Given the description of an element on the screen output the (x, y) to click on. 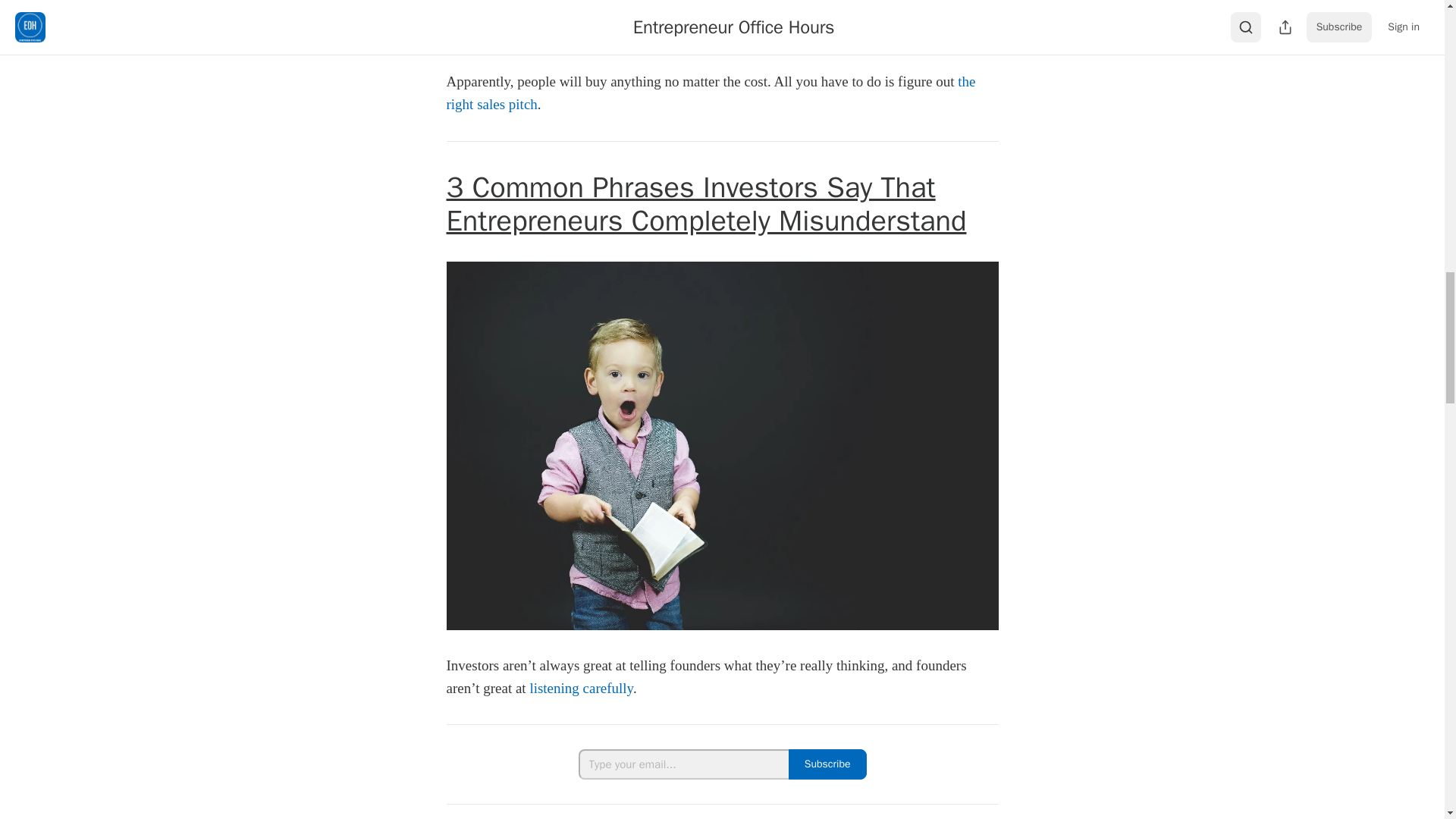
listening carefully (580, 688)
the right sales pitch (710, 92)
Subscribe (827, 764)
